Given the description of an element on the screen output the (x, y) to click on. 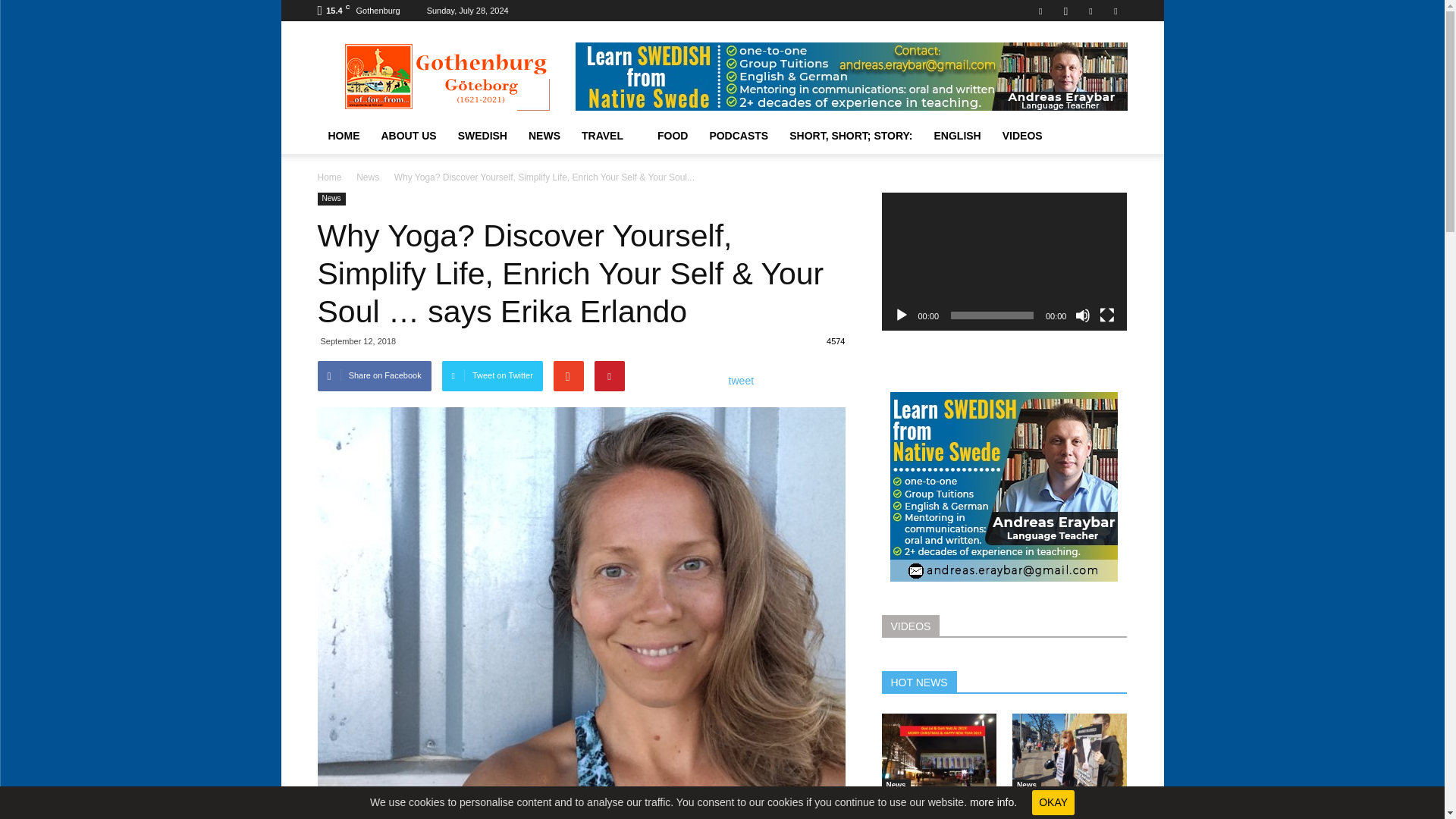
Facebook (1040, 10)
Twitter (1114, 10)
FOOD (672, 135)
ABOUT US (407, 135)
PODCASTS (738, 135)
SWEDISH (482, 135)
NEWS (544, 135)
VIDEOS (1021, 135)
SHORT, SHORT; STORY: (850, 135)
ENGLISH (957, 135)
View all posts in News (367, 176)
HOME (343, 135)
Instagram (1065, 10)
Linkedin (1090, 10)
TRAVEL (608, 135)
